Given the description of an element on the screen output the (x, y) to click on. 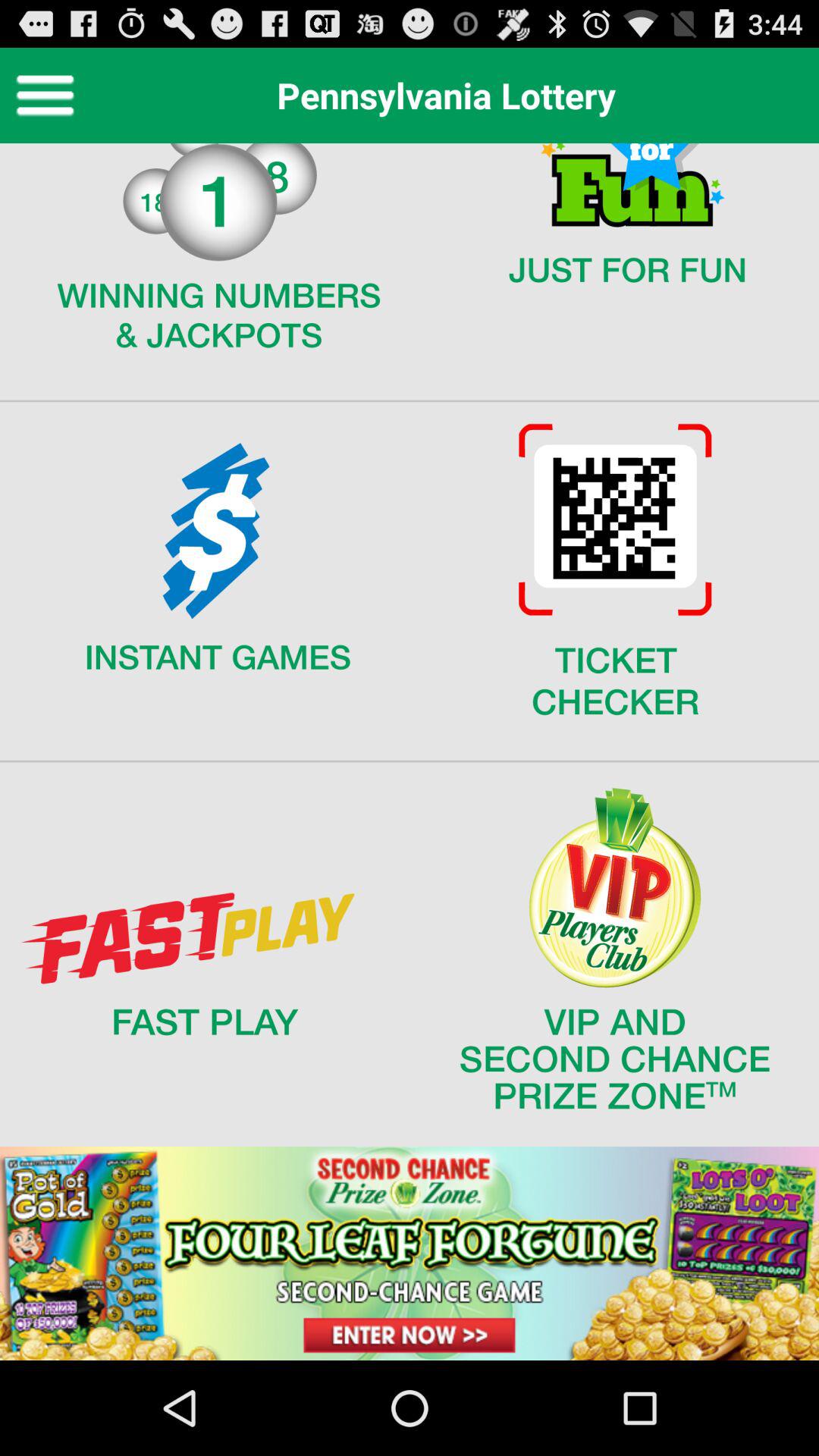
display screen (409, 751)
